Given the description of an element on the screen output the (x, y) to click on. 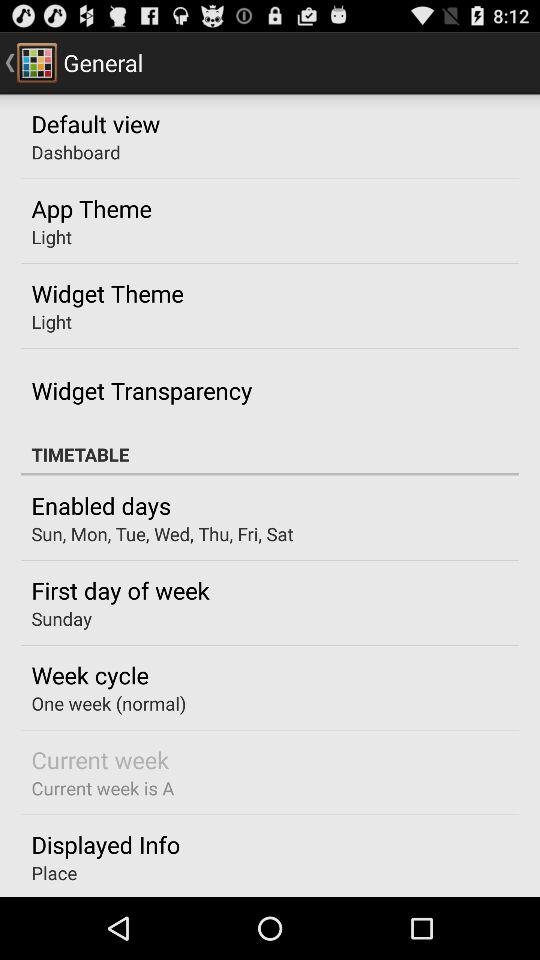
open item above the first day of item (162, 533)
